Given the description of an element on the screen output the (x, y) to click on. 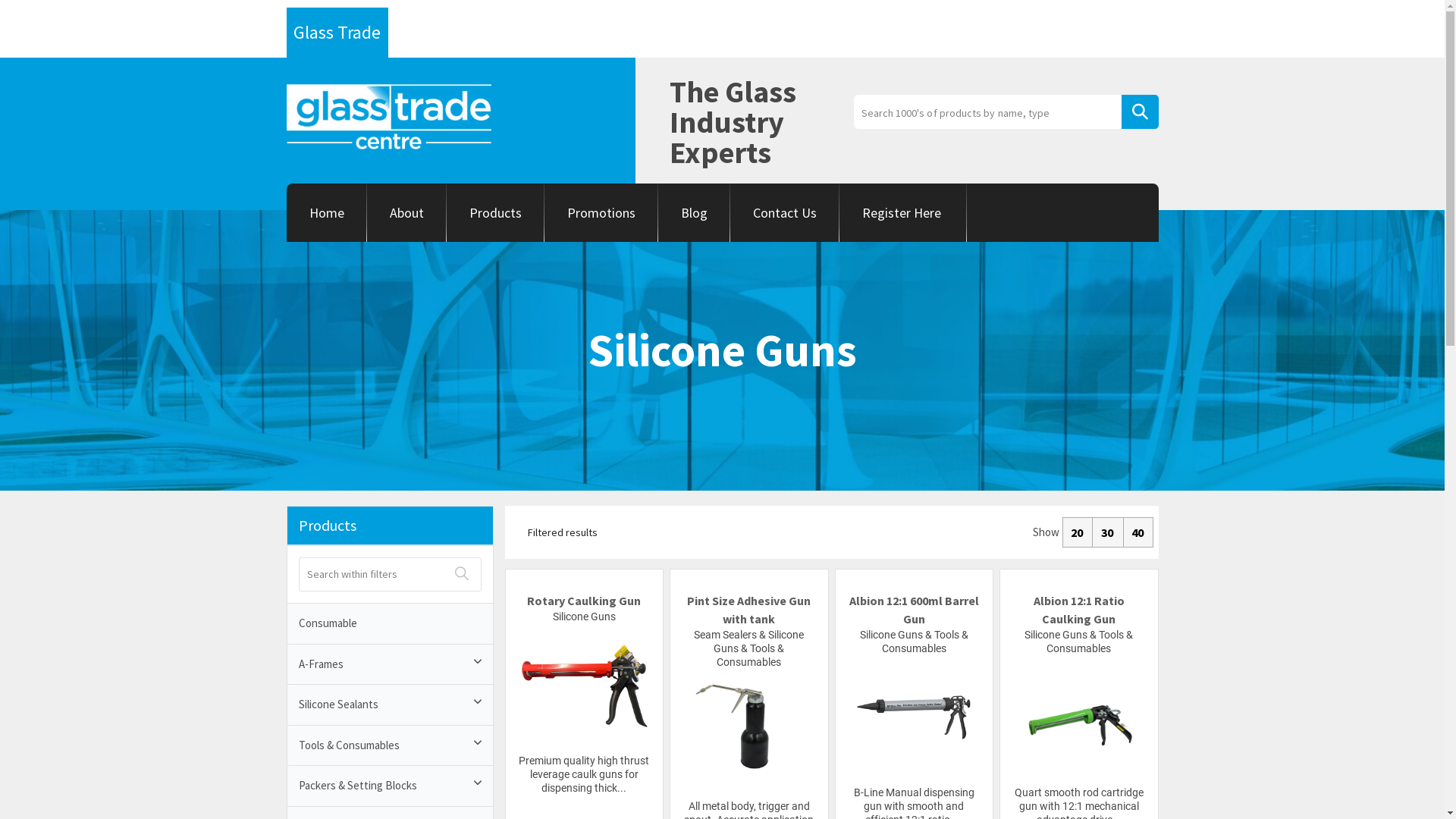
Home Element type: text (326, 212)
Blog Element type: text (694, 212)
Albion 12:1 Ratio Caulking Gun Element type: text (1078, 609)
Products Element type: text (494, 212)
30 Element type: text (1107, 532)
Consumable Element type: text (389, 623)
Contact Us Element type: text (783, 212)
Pint Size Adhesive Gun with tank Element type: text (749, 609)
Glass Trade Element type: text (337, 32)
Rotary Caulking Gun Element type: text (584, 600)
Tools & Consumables Element type: text (389, 744)
Silicone Sealants Element type: text (389, 704)
A-Frames Element type: text (389, 664)
Albion 12:1 600ml Barrel Gun Element type: text (914, 609)
About Element type: text (406, 212)
Register Here Element type: text (902, 212)
Packers & Setting Blocks Element type: text (389, 785)
40 Element type: text (1137, 532)
Promotions Element type: text (601, 212)
20 Element type: text (1076, 532)
